Given the description of an element on the screen output the (x, y) to click on. 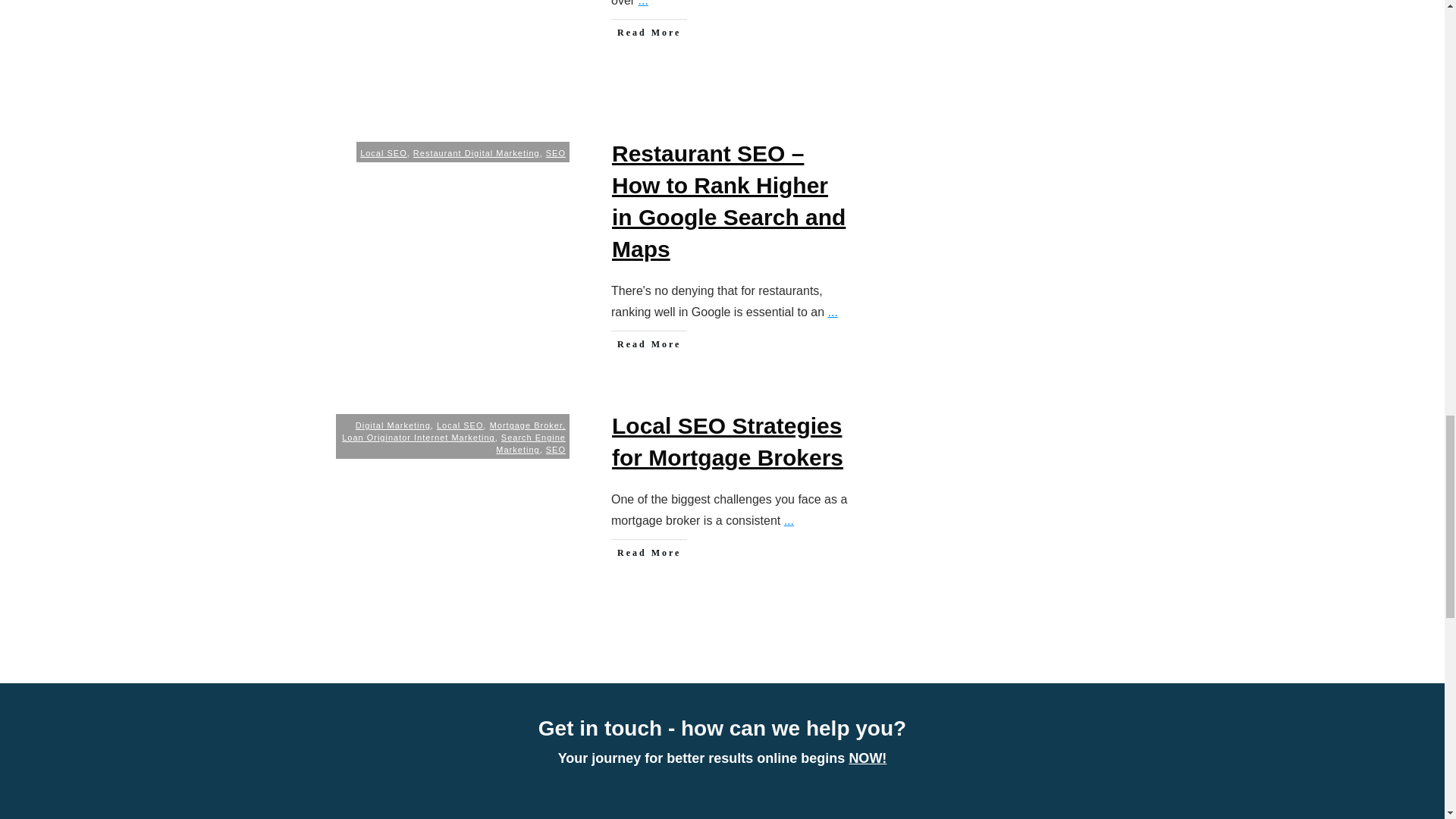
SEO (556, 153)
Restaurant Digital Marketing (476, 153)
Local SEO (383, 153)
